Given the description of an element on the screen output the (x, y) to click on. 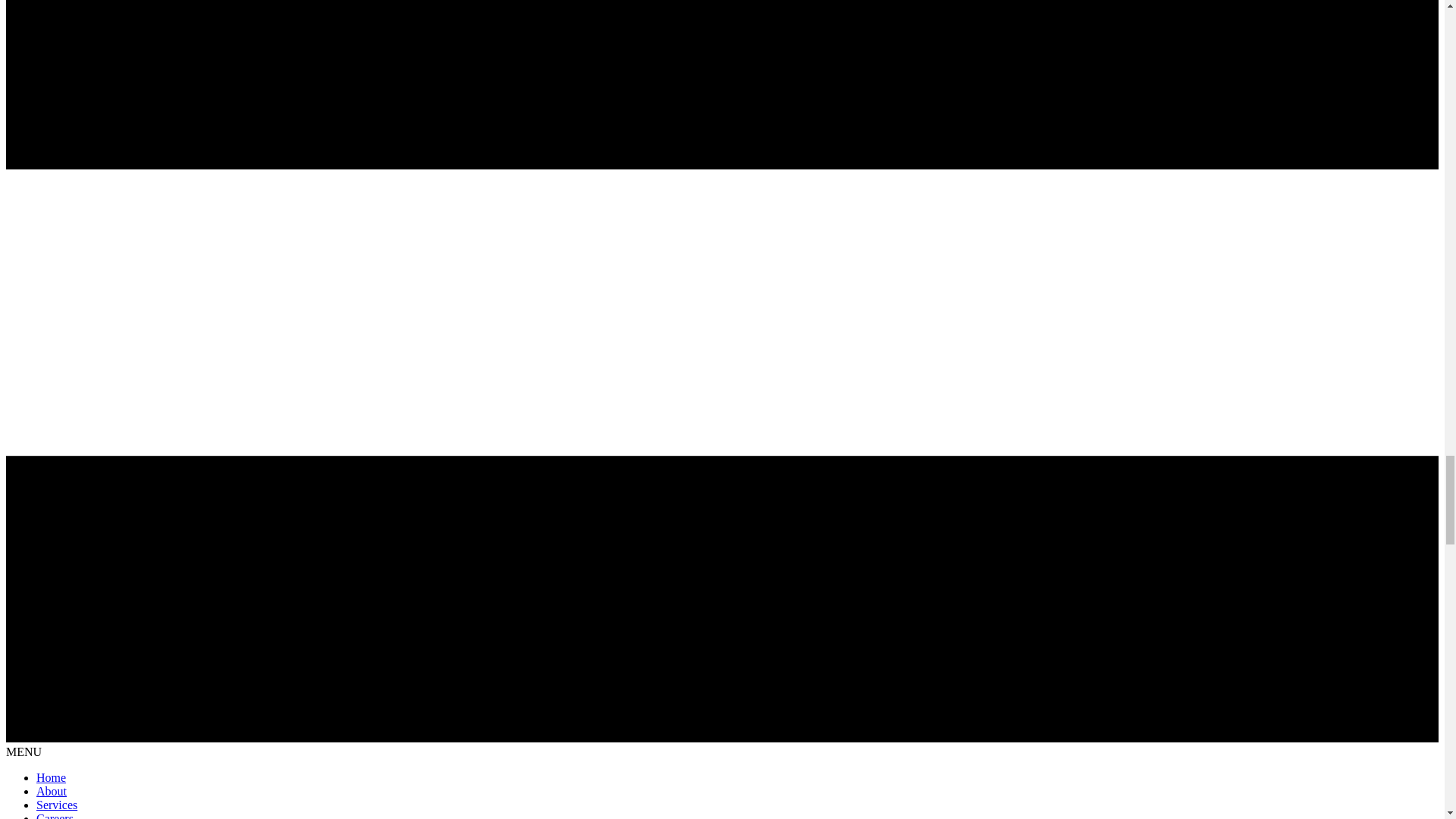
Careers (55, 815)
Home (50, 777)
About (51, 790)
Services (56, 804)
